Given the description of an element on the screen output the (x, y) to click on. 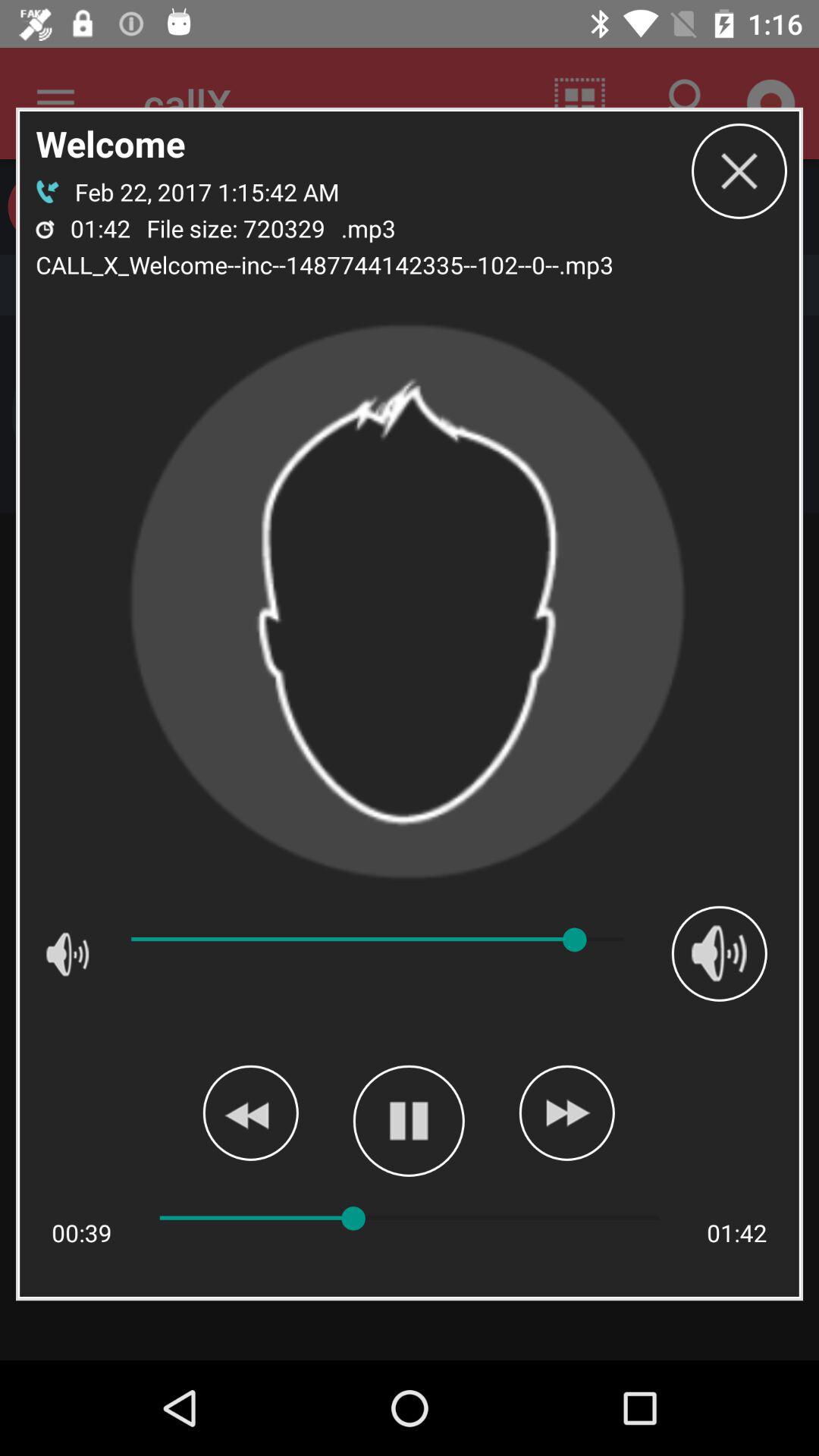
tracks backward for an audio file (250, 1112)
